Given the description of an element on the screen output the (x, y) to click on. 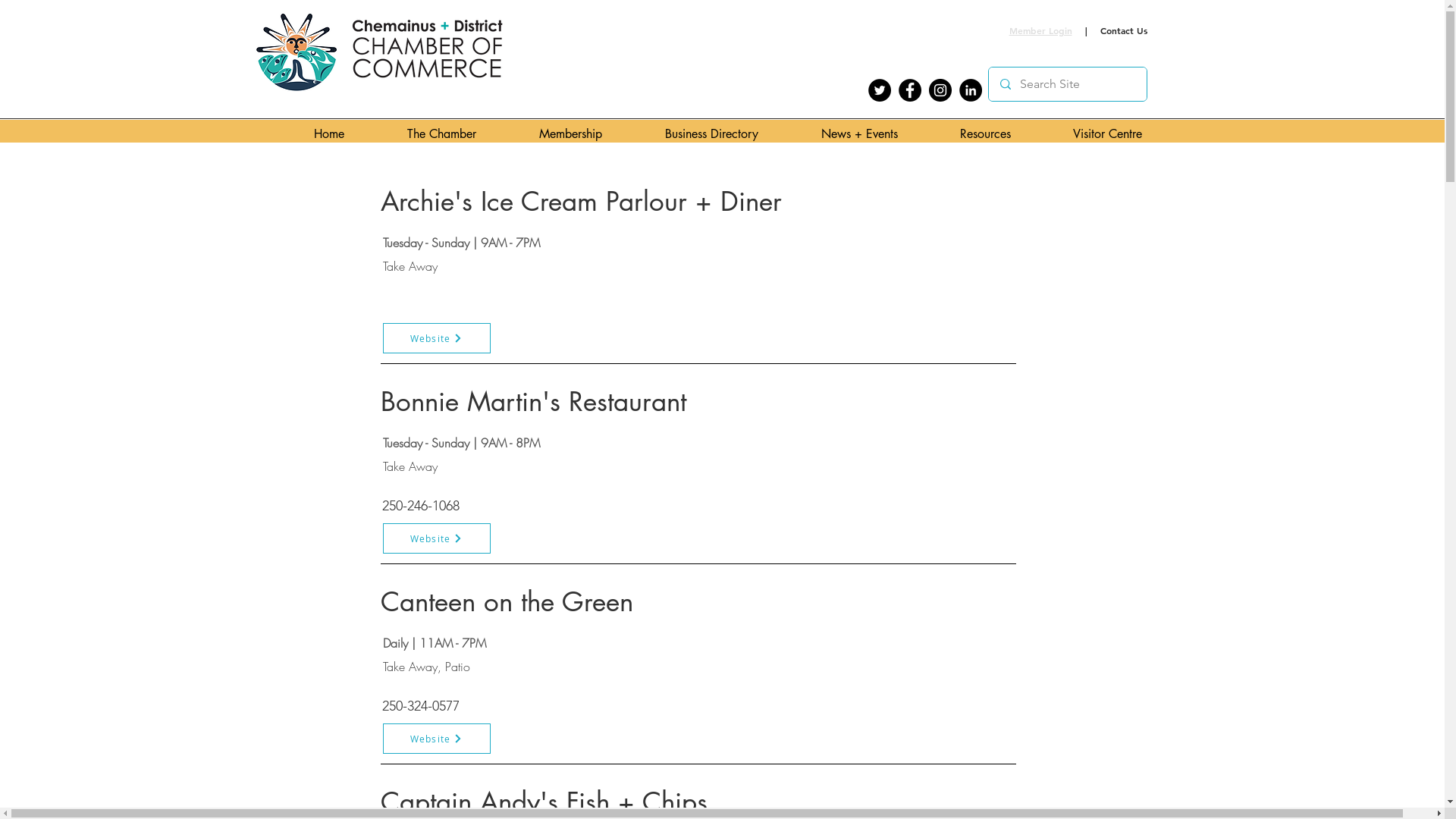
News + Events Element type: text (874, 133)
Member Login Element type: text (1039, 30)
Home Element type: text (345, 133)
Website Element type: text (435, 738)
Website Element type: text (435, 538)
Visitor Centre Element type: text (1122, 133)
Website Element type: text (435, 338)
Contact Us Element type: text (1122, 30)
Resources Element type: text (1000, 133)
Business Directory Element type: text (727, 133)
Membership Element type: text (586, 133)
| Element type: text (1085, 30)
The Chamber Element type: text (457, 133)
